Given the description of an element on the screen output the (x, y) to click on. 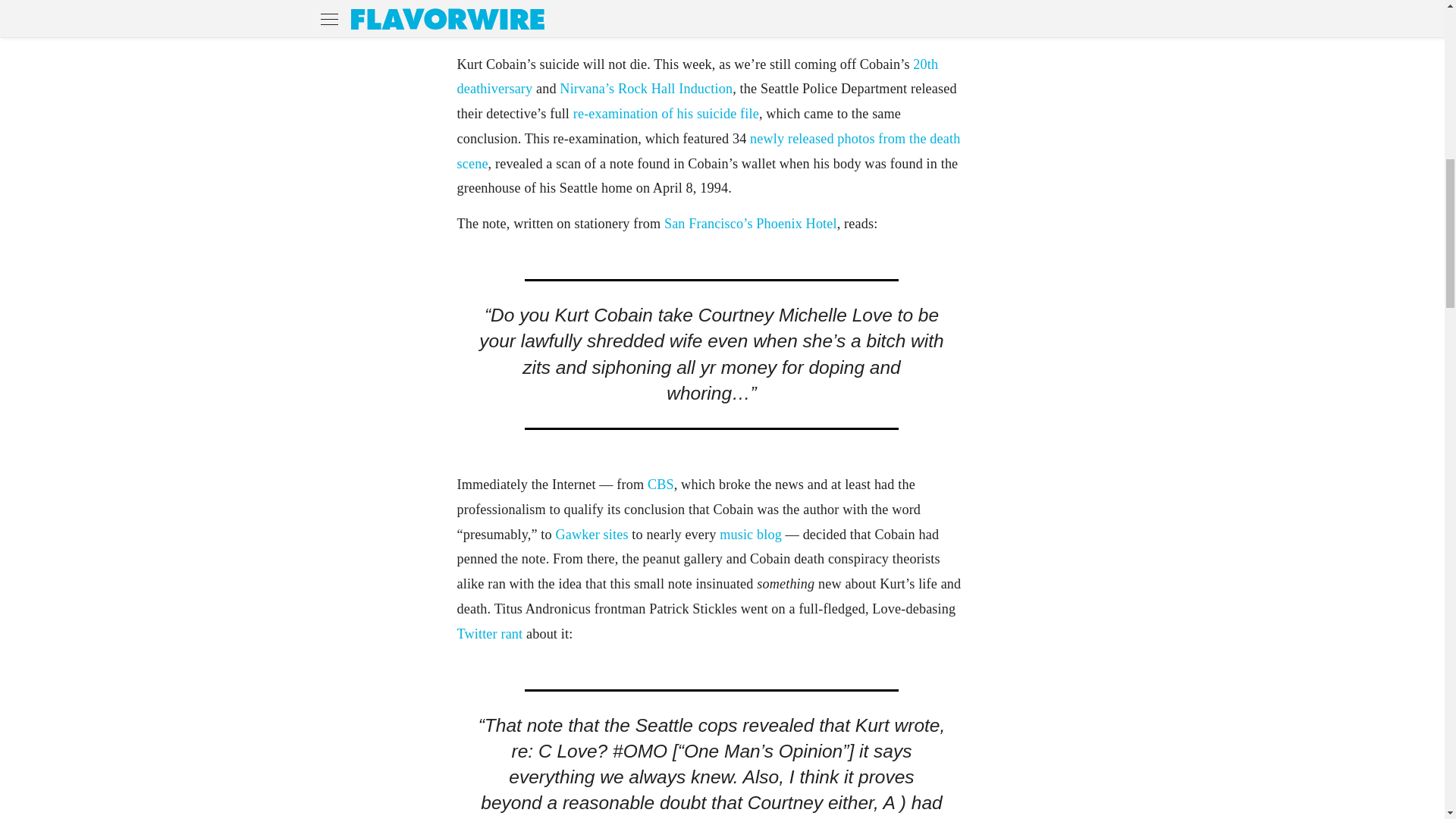
Twitter rant (489, 633)
sites (616, 534)
newly released photos from the death scene (708, 151)
Gawker (576, 534)
blog (769, 534)
CBS (660, 484)
re-examination of his suicide file (665, 113)
music (738, 534)
20th deathiversary (697, 76)
